Given the description of an element on the screen output the (x, y) to click on. 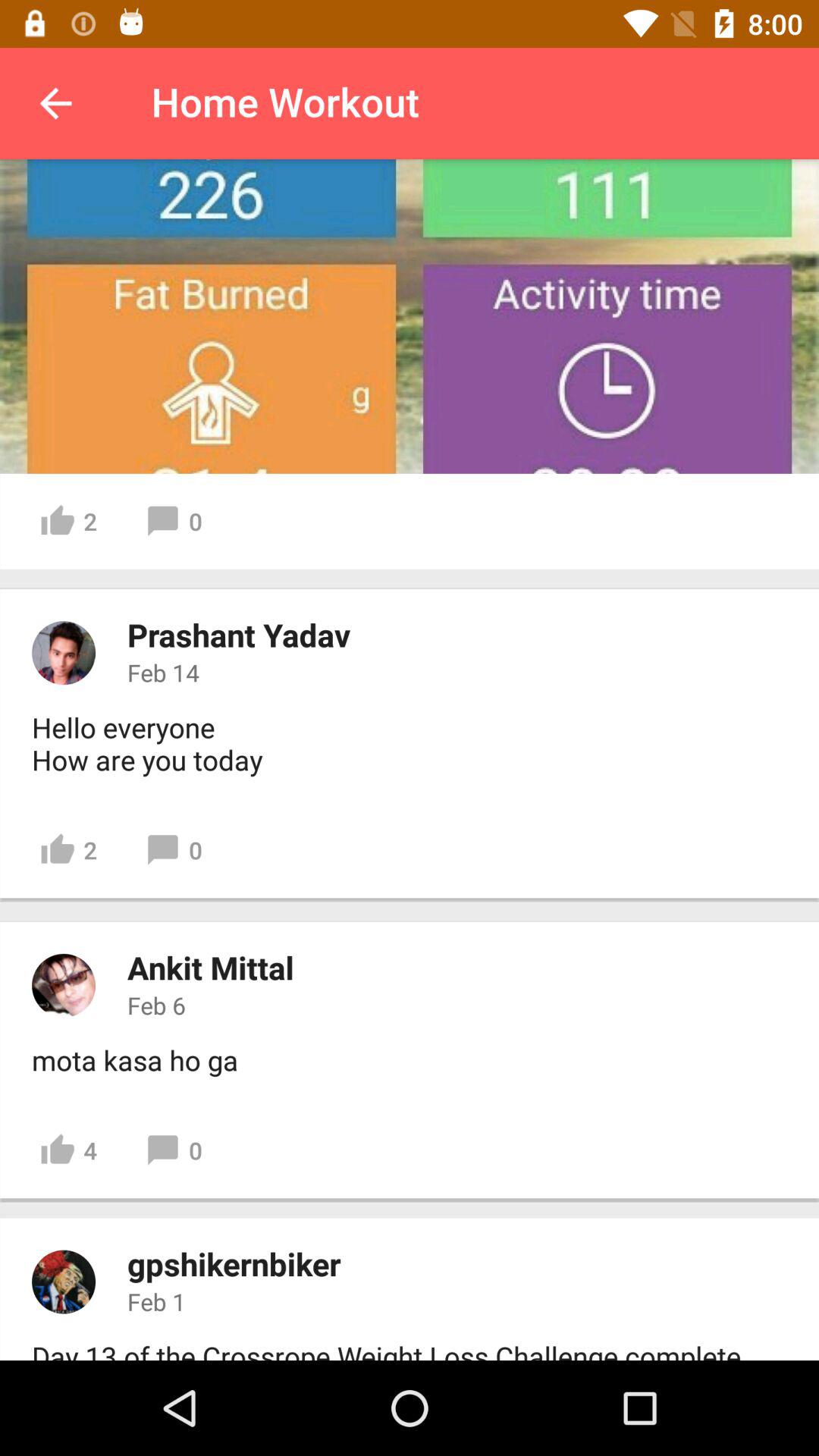
press icon below feb 1 (389, 1348)
